Given the description of an element on the screen output the (x, y) to click on. 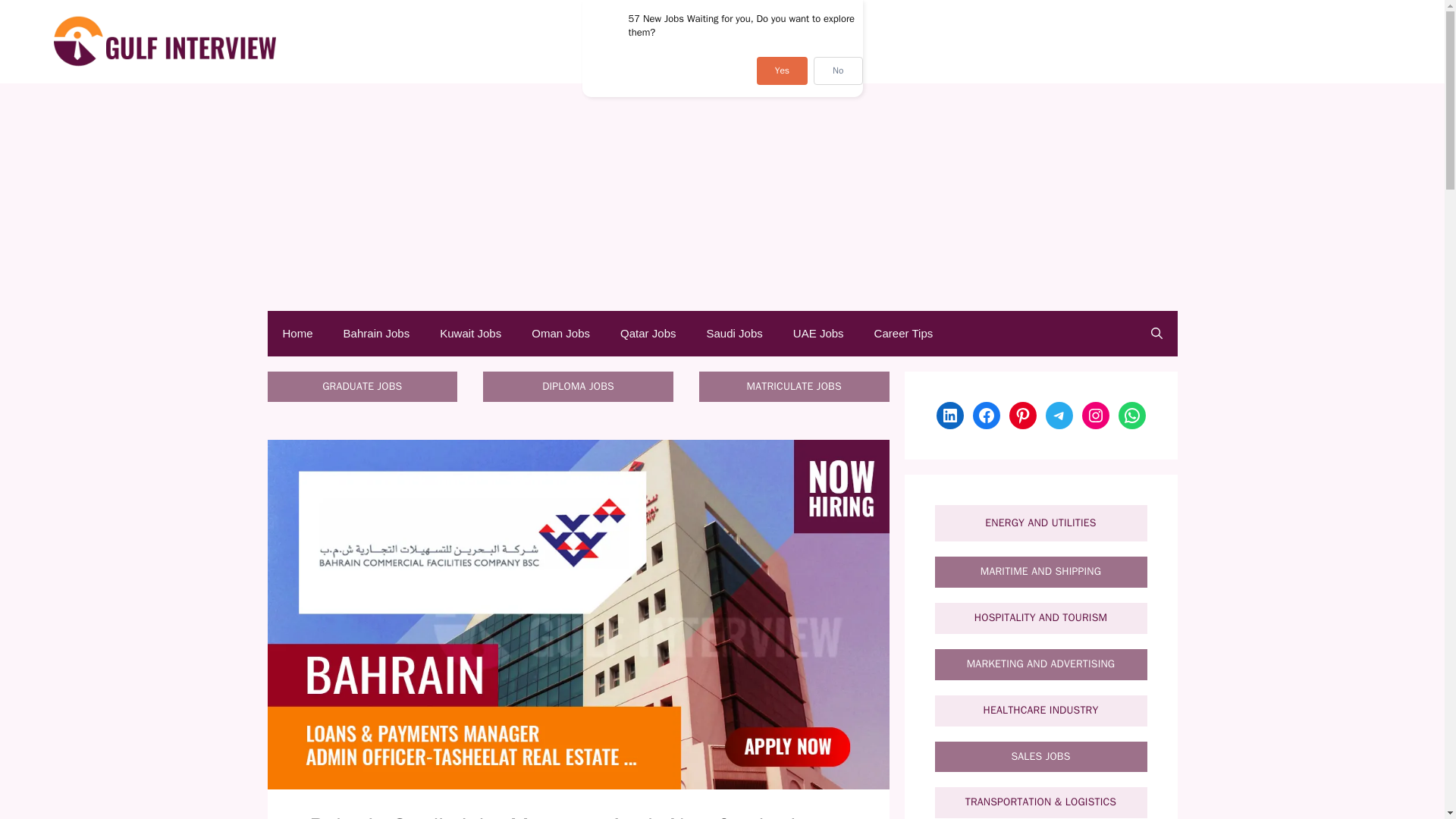
Qatar Jobs (647, 333)
GRADUATE JOBS (361, 386)
Bahrain Jobs (377, 333)
UAE Jobs (818, 333)
Saudi Jobs (734, 333)
Kuwait Jobs (470, 333)
DIPLOMA JOBS (577, 386)
MATRICULATE JOBS (793, 386)
Home (296, 333)
Career Tips (904, 333)
Oman Jobs (560, 333)
